Given the description of an element on the screen output the (x, y) to click on. 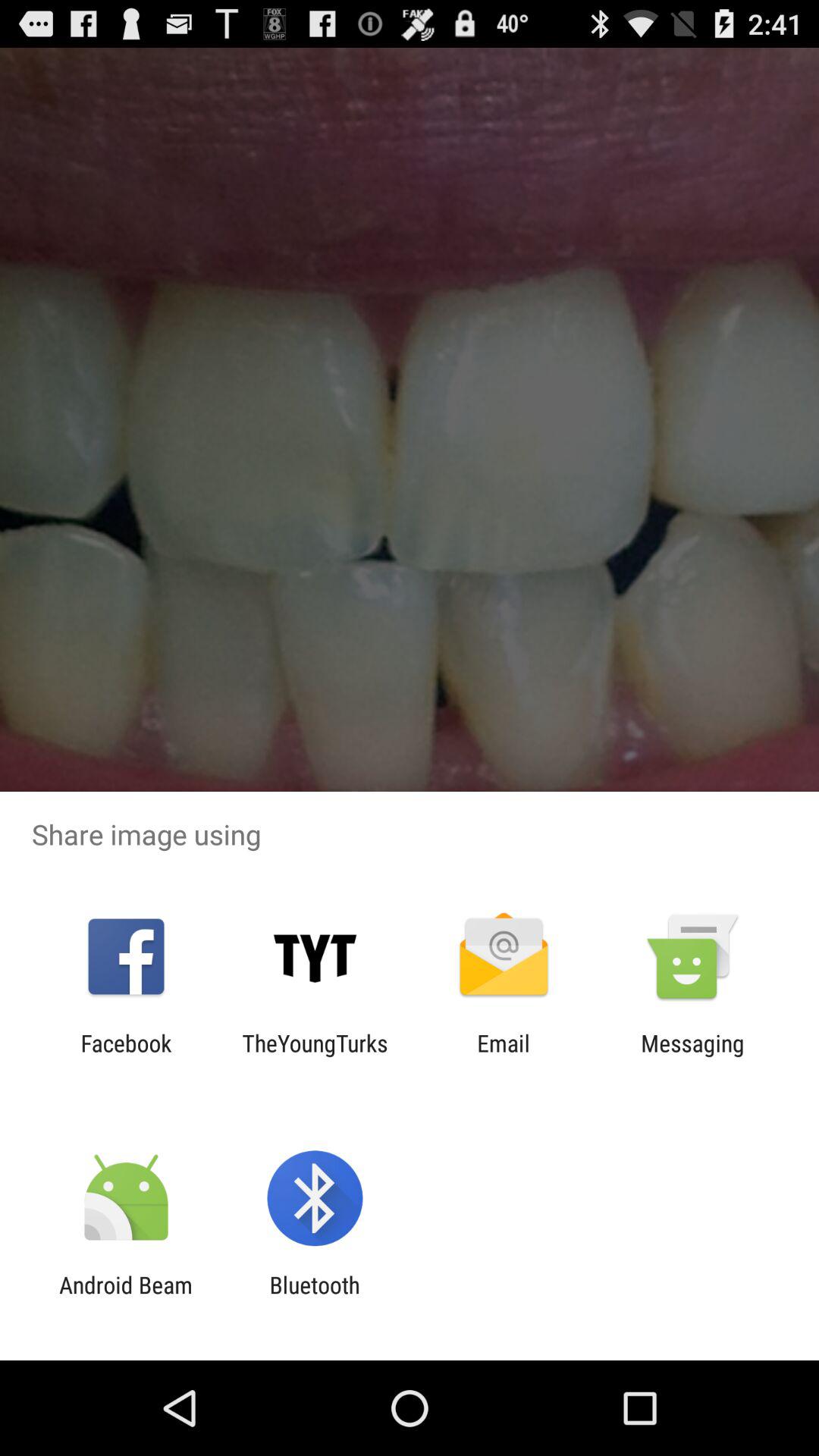
click app next to the email (314, 1056)
